Given the description of an element on the screen output the (x, y) to click on. 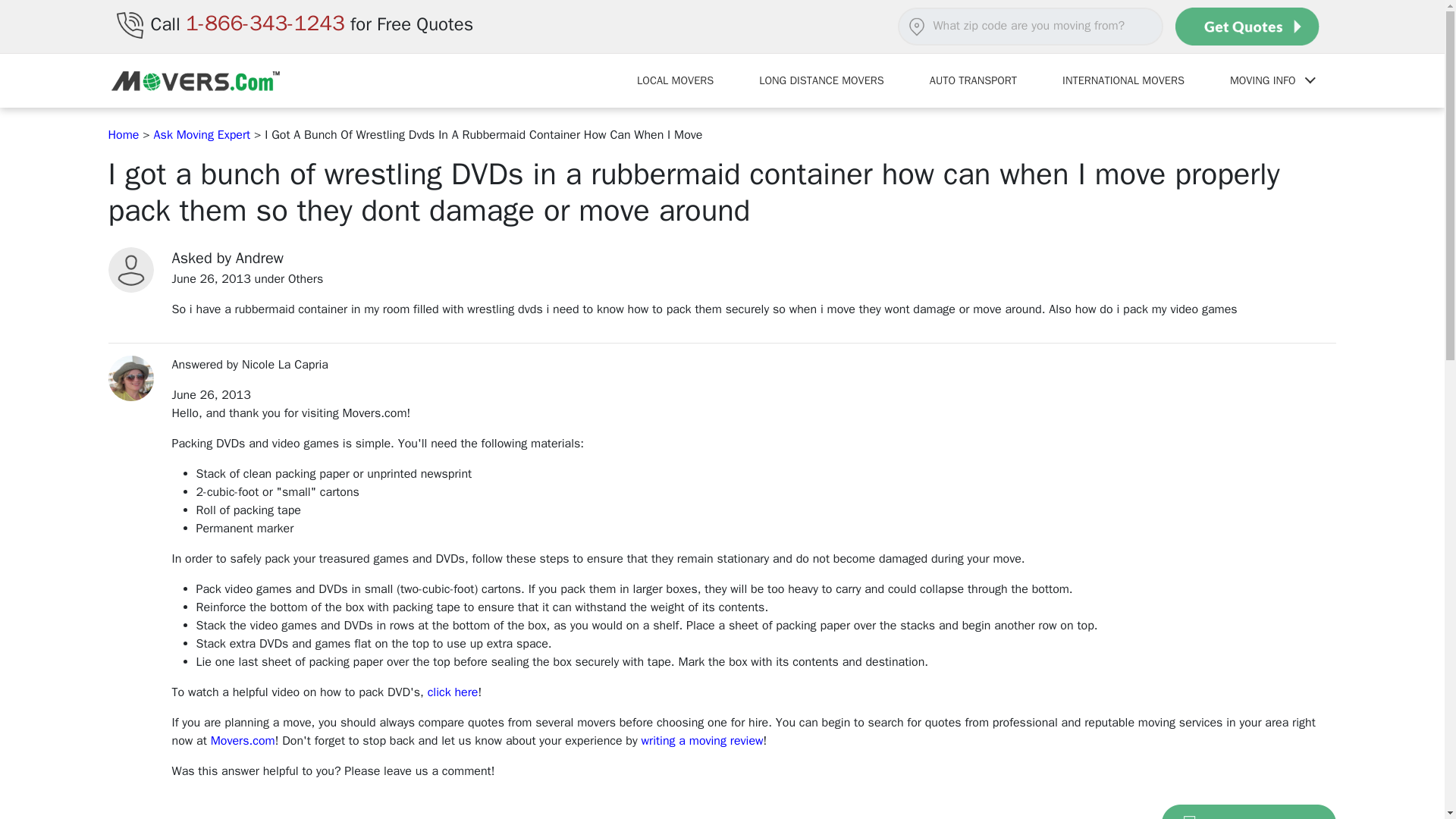
MOVING INFO (1271, 80)
1-866-343-1243 (265, 22)
4.5 (174, 814)
Ask Moving Expert (202, 134)
click here (453, 692)
Home (123, 134)
INTERNATIONAL MOVERS (1123, 80)
writing a moving review (702, 740)
AUTO TRANSPORT (973, 80)
LOCAL MOVERS (675, 80)
